Given the description of an element on the screen output the (x, y) to click on. 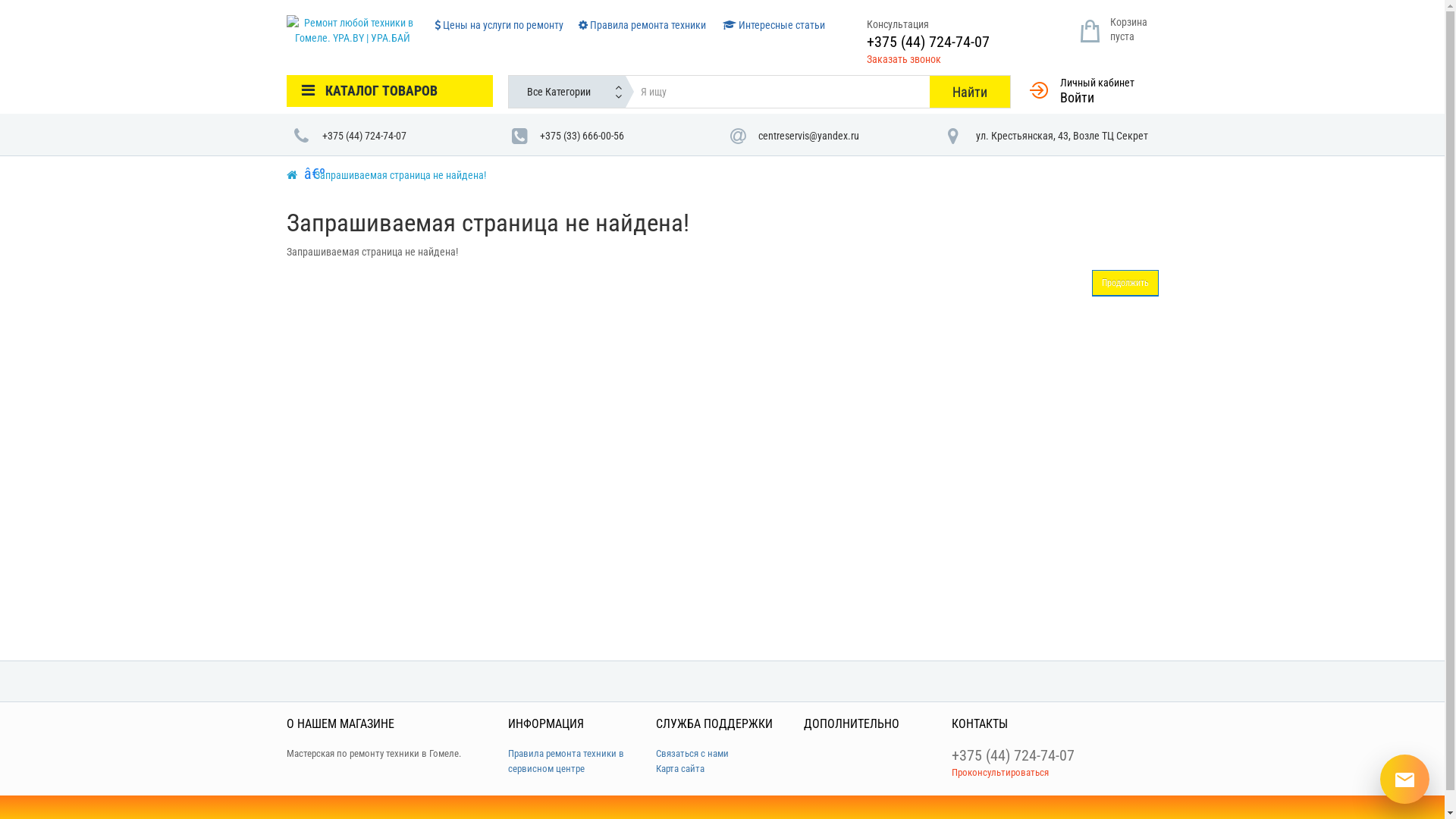
centreservis@yandex.ru Element type: text (830, 135)
+375 (44) 724-74-07 Element type: text (395, 135)
+375 (33) 666-00-56 Element type: text (613, 135)
